Given the description of an element on the screen output the (x, y) to click on. 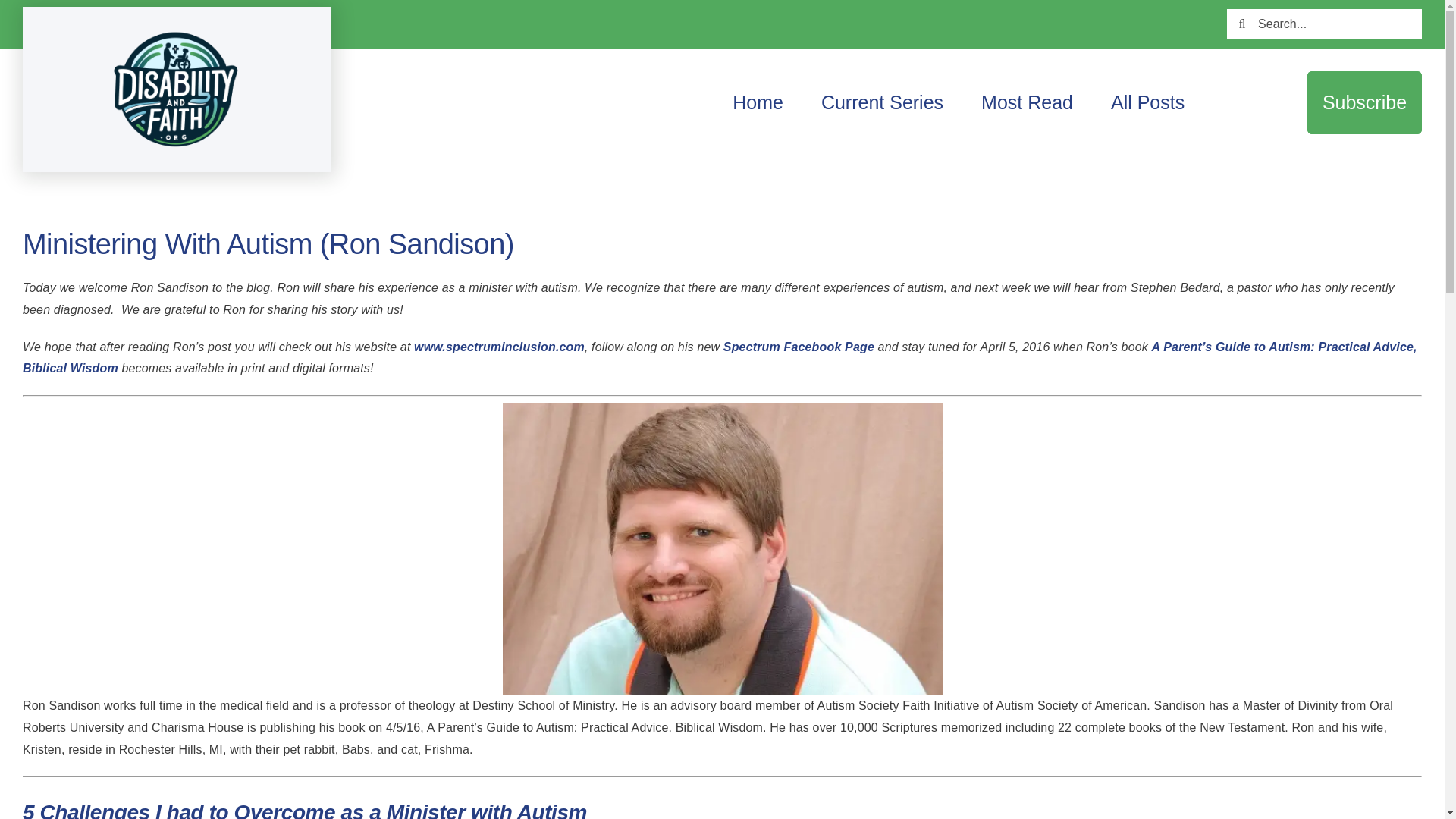
Most Read (1027, 102)
Spectrum Facebook Page (799, 346)
Subscribe (1364, 102)
All Posts (1148, 102)
Home (757, 102)
Current Series (882, 102)
www.spectruminclusion.com (499, 346)
